Given the description of an element on the screen output the (x, y) to click on. 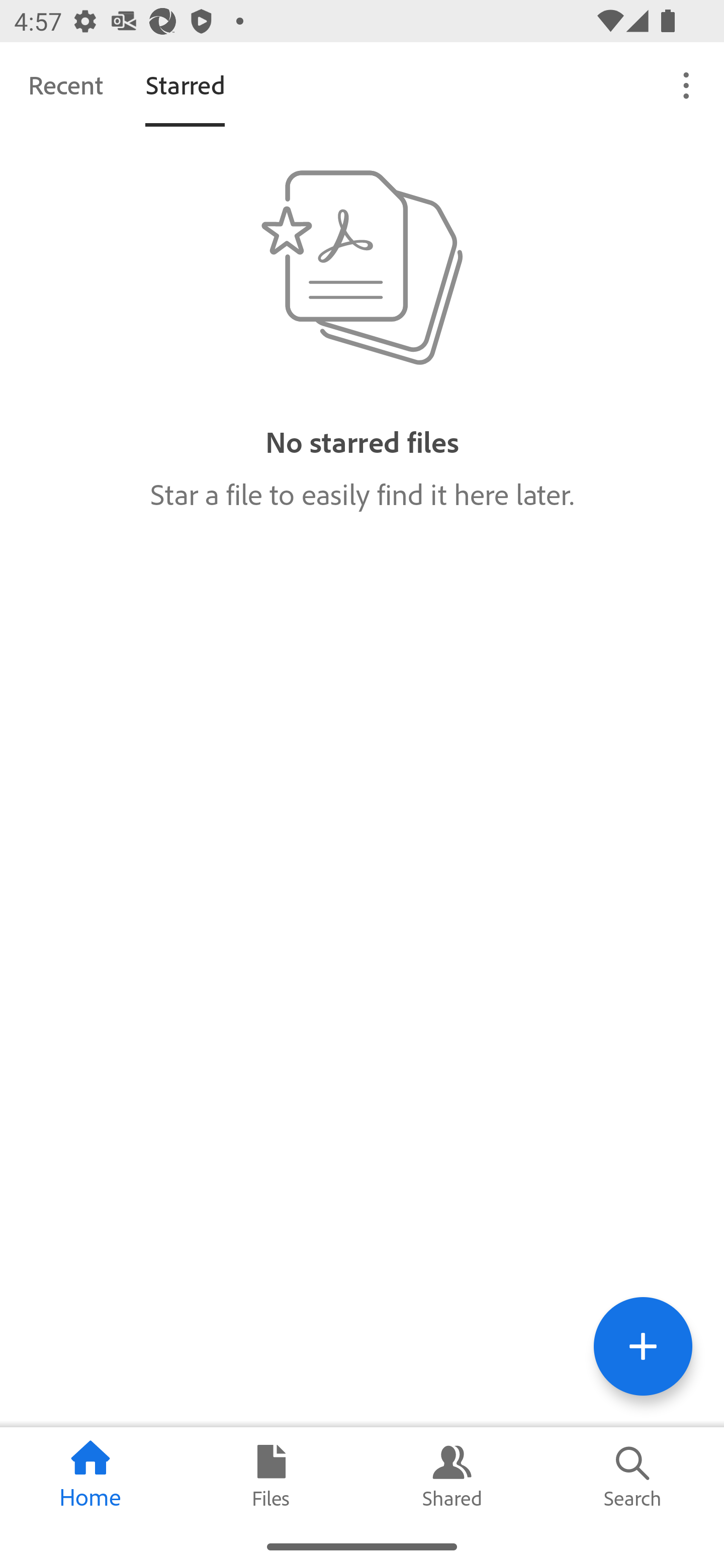
Recent (65, 84)
Starred (185, 84)
Overflow (687, 84)
Tools (642, 1345)
Home (90, 1475)
Files (271, 1475)
Shared (452, 1475)
Search (633, 1475)
